Given the description of an element on the screen output the (x, y) to click on. 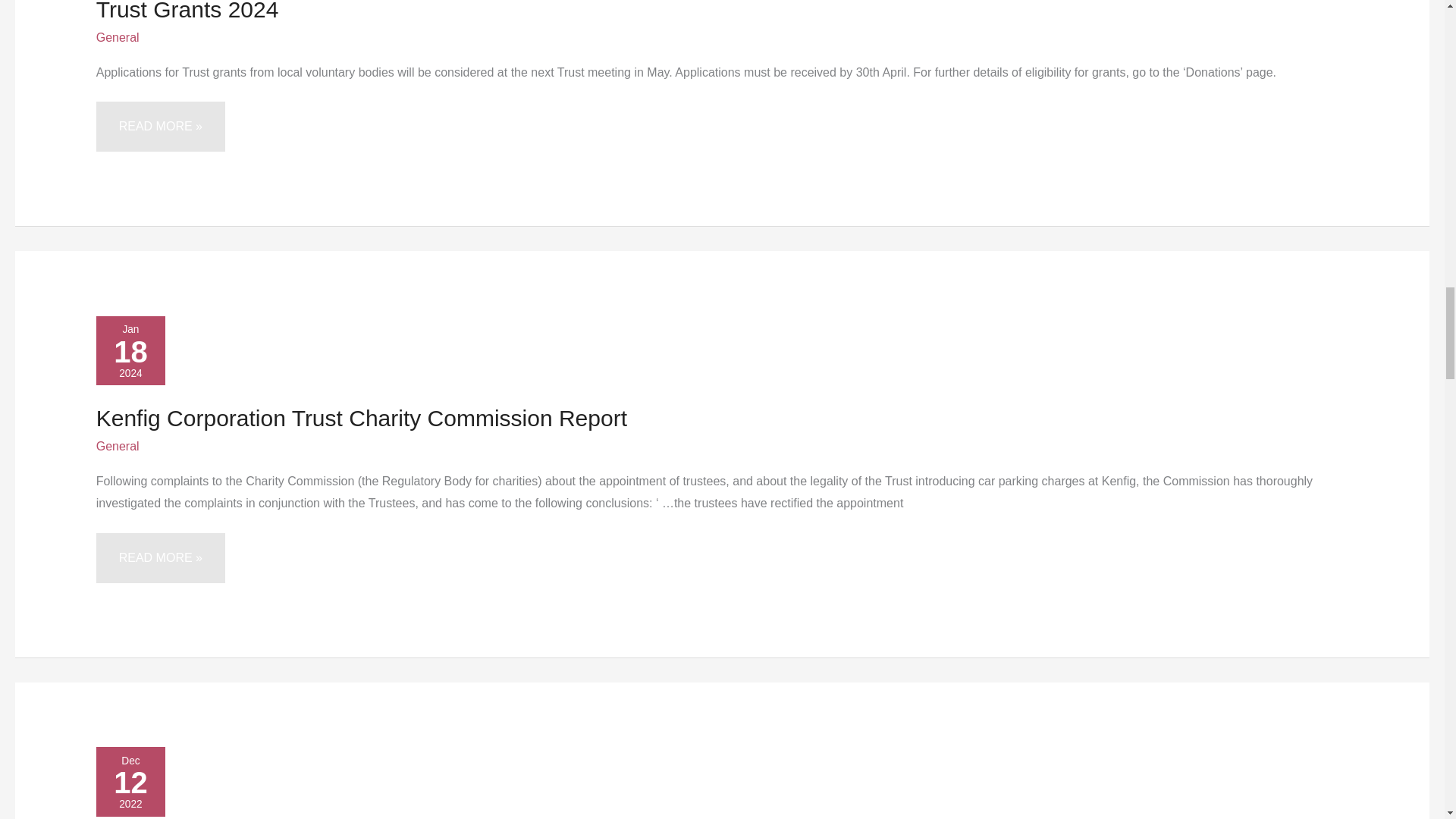
General (117, 445)
Trust Grants 2024 (187, 11)
General (117, 37)
Kenfig Corporation Trust Charity Commission Report (361, 417)
